Given the description of an element on the screen output the (x, y) to click on. 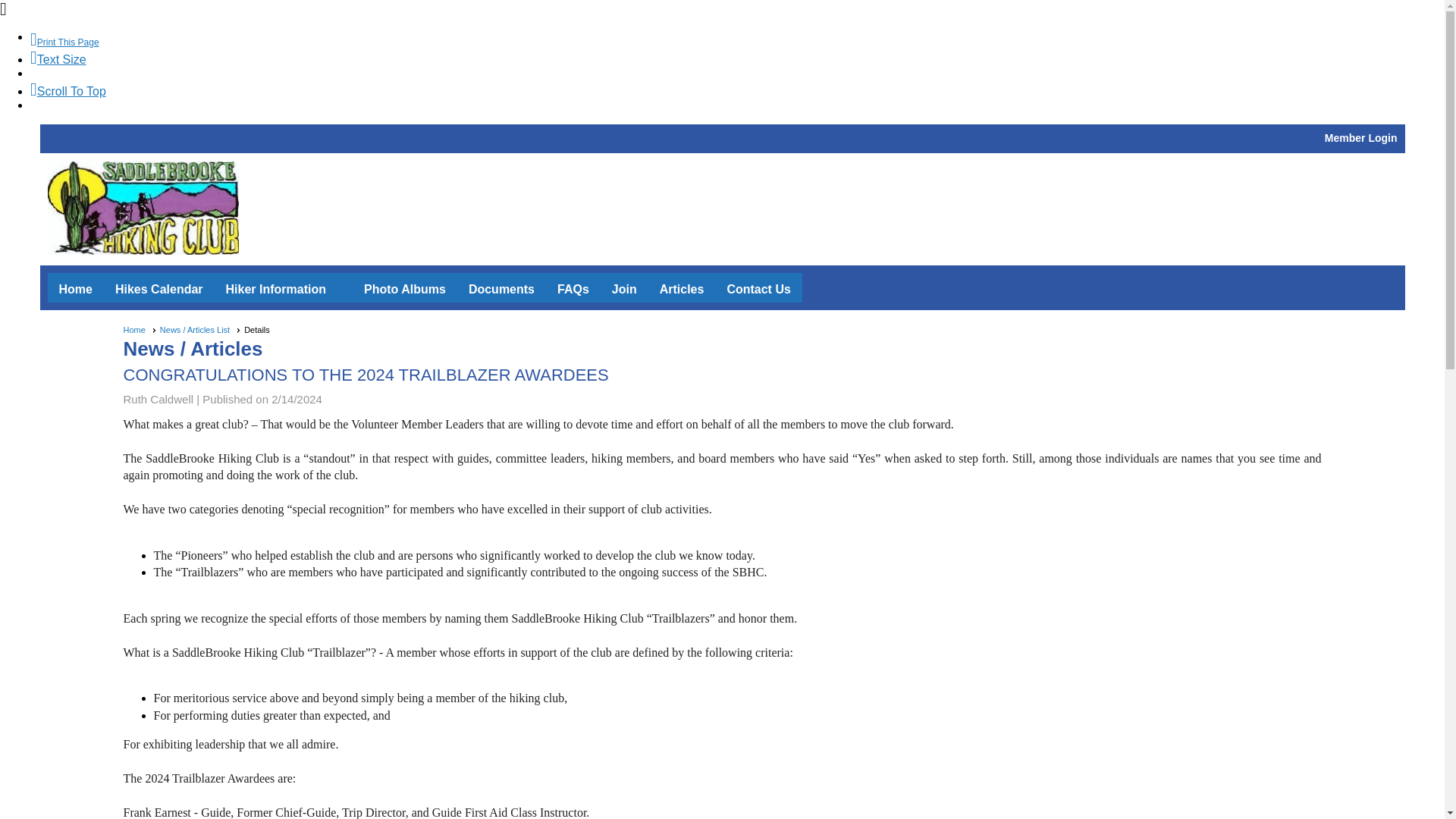
Photo Albums (404, 289)
Member Login (1360, 137)
Print (64, 41)
Hikes Calendar (159, 289)
Articles (681, 289)
Text Size (57, 59)
Contact Us (758, 289)
User Panel (1062, 137)
Join (624, 289)
Go To Top (68, 91)
